Given the description of an element on the screen output the (x, y) to click on. 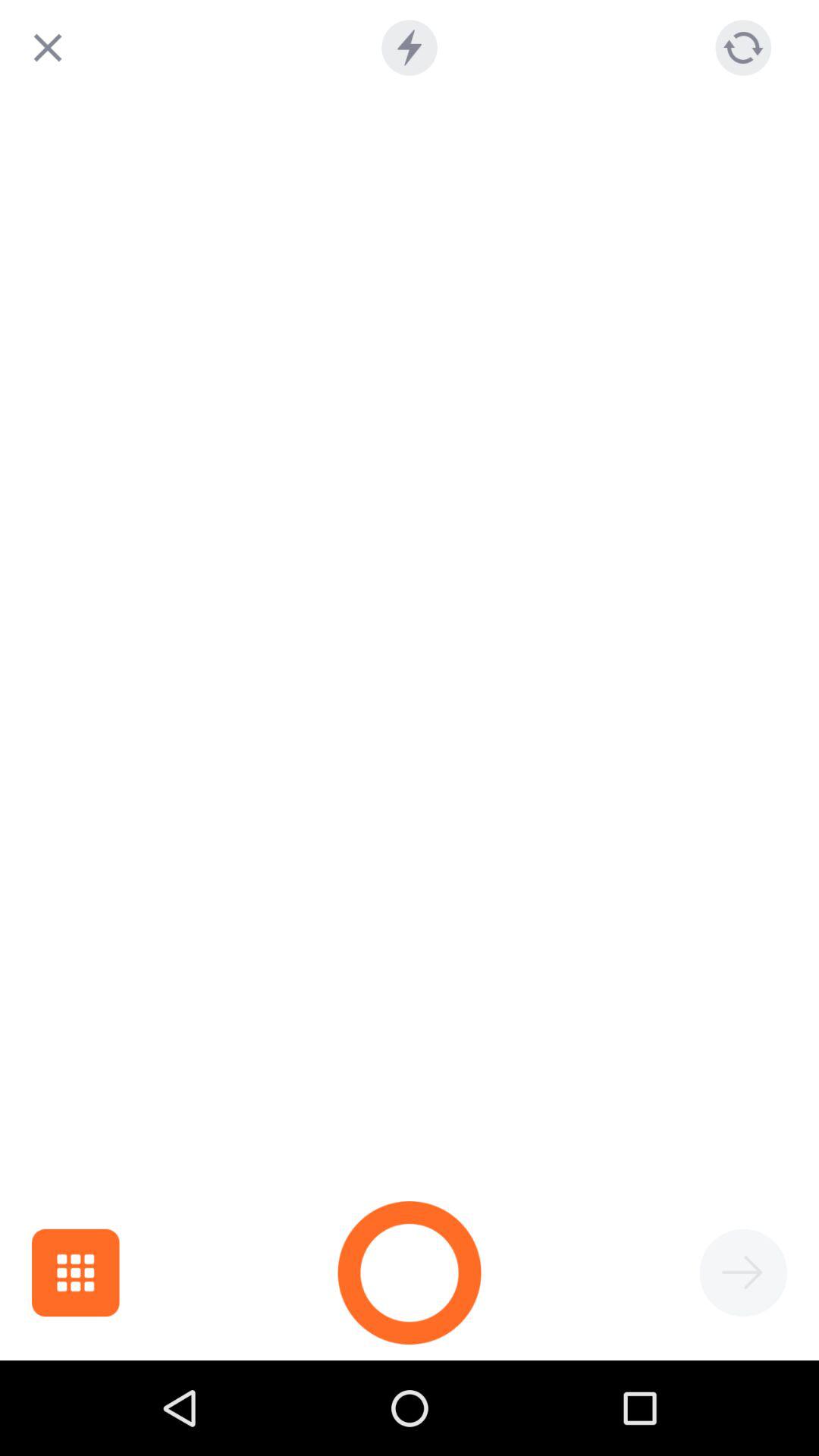
refresh (743, 47)
